Given the description of an element on the screen output the (x, y) to click on. 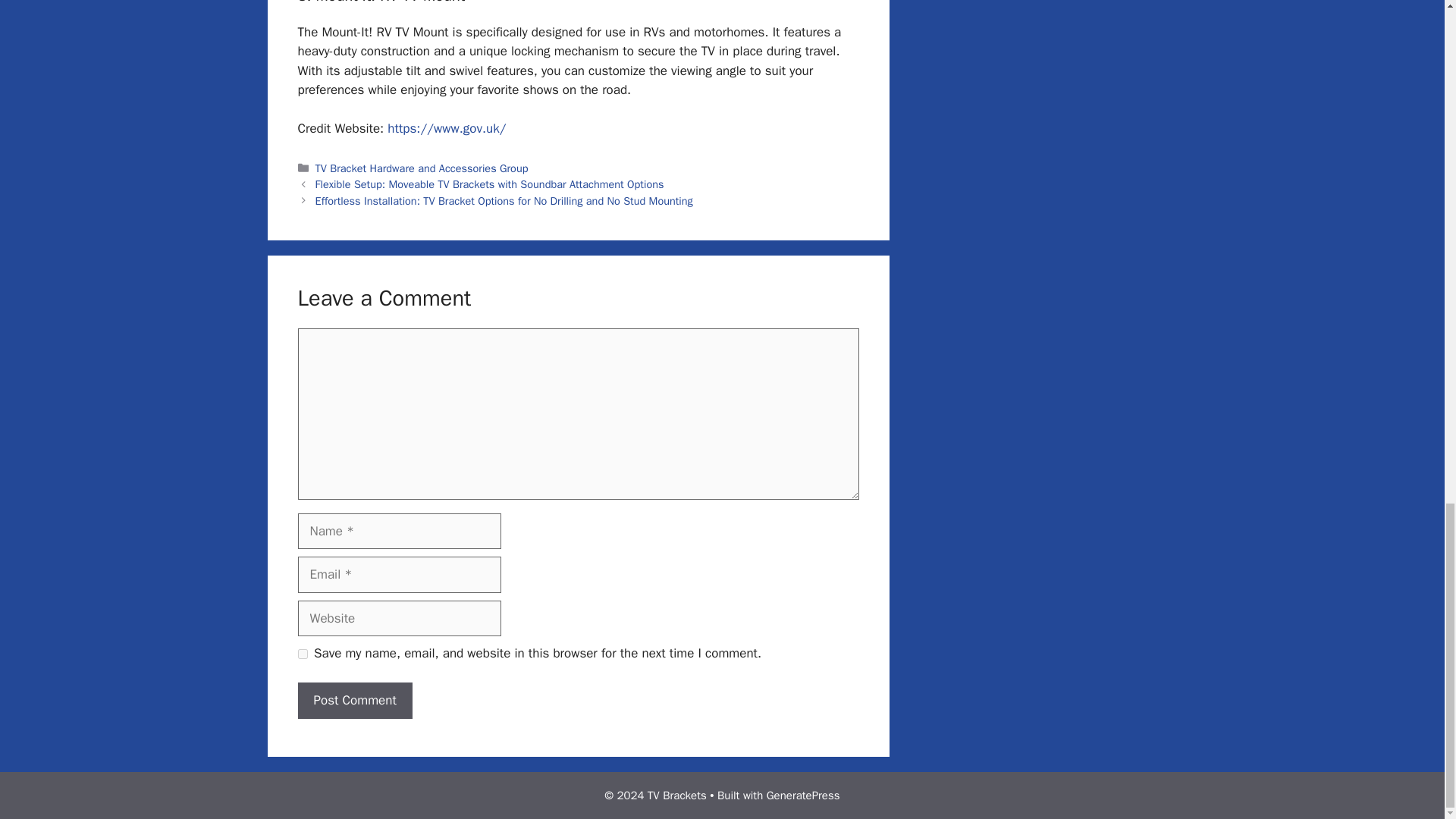
Post Comment (354, 700)
GeneratePress (803, 795)
TV Bracket Hardware and Accessories Group (421, 168)
yes (302, 654)
Post Comment (354, 700)
